Given the description of an element on the screen output the (x, y) to click on. 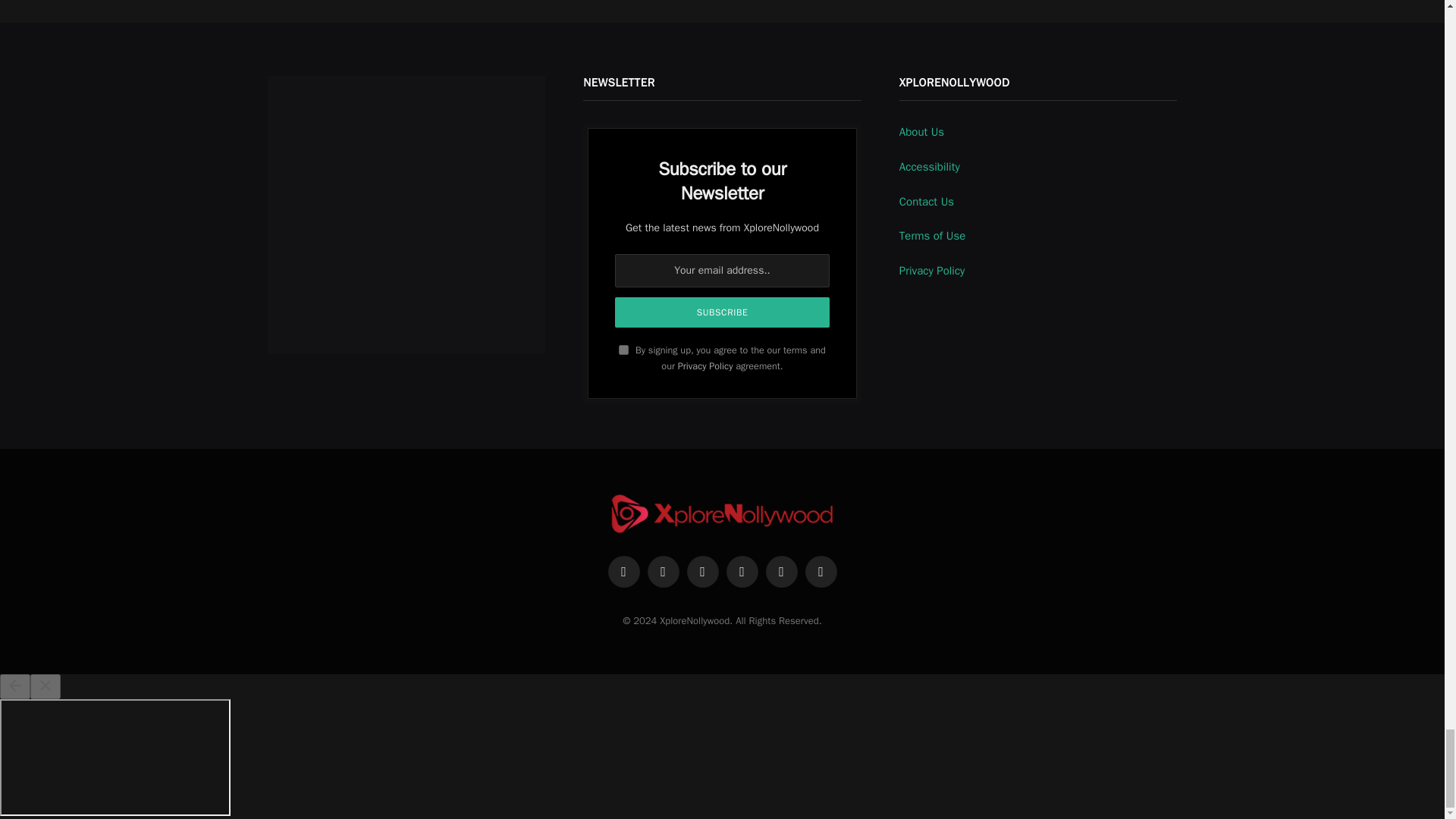
on (623, 349)
Subscribe (721, 312)
